Given the description of an element on the screen output the (x, y) to click on. 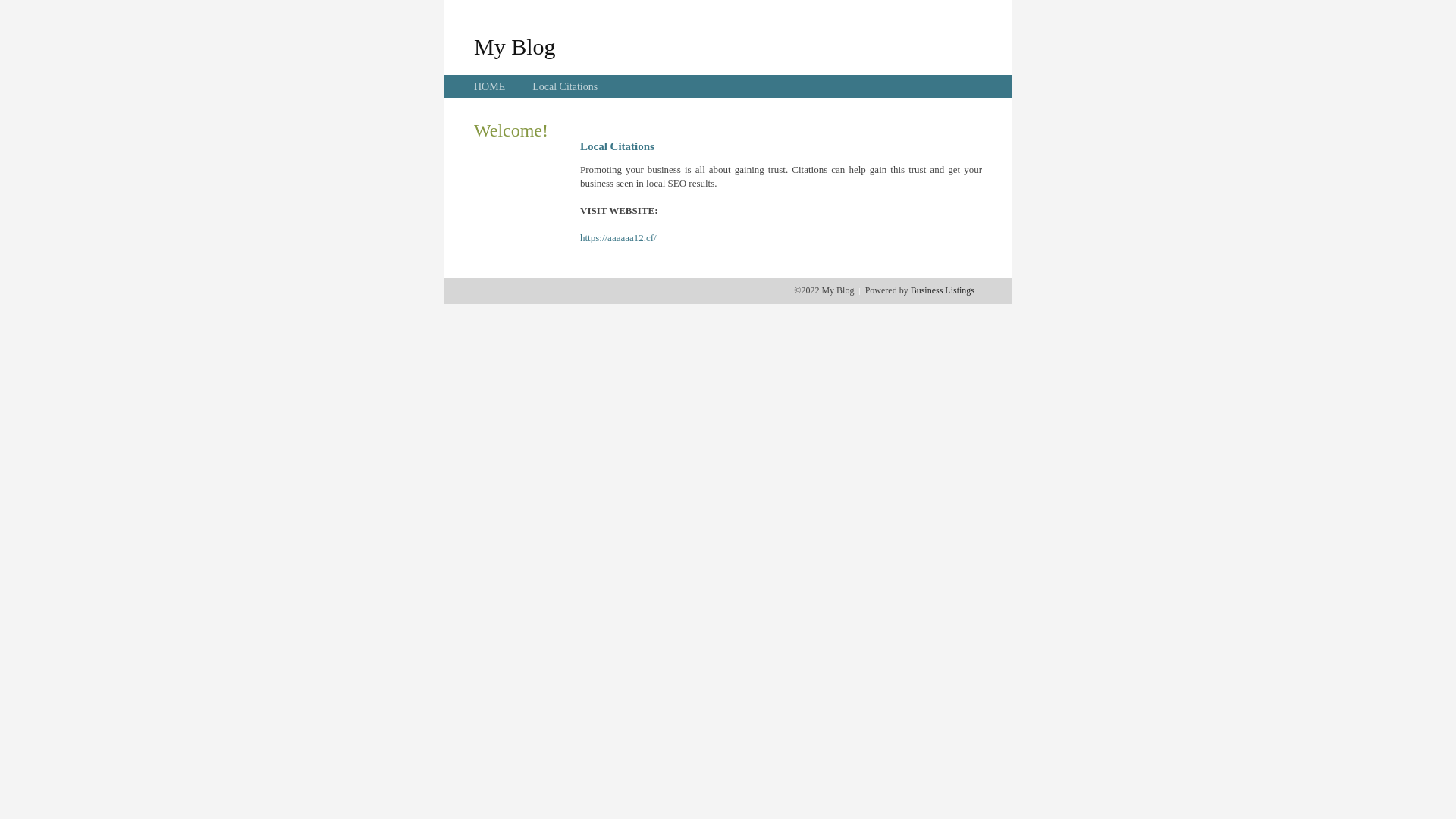
HOME Element type: text (489, 86)
https://aaaaaa12.cf/ Element type: text (618, 237)
Business Listings Element type: text (942, 290)
Local Citations Element type: text (564, 86)
My Blog Element type: text (514, 46)
